Given the description of an element on the screen output the (x, y) to click on. 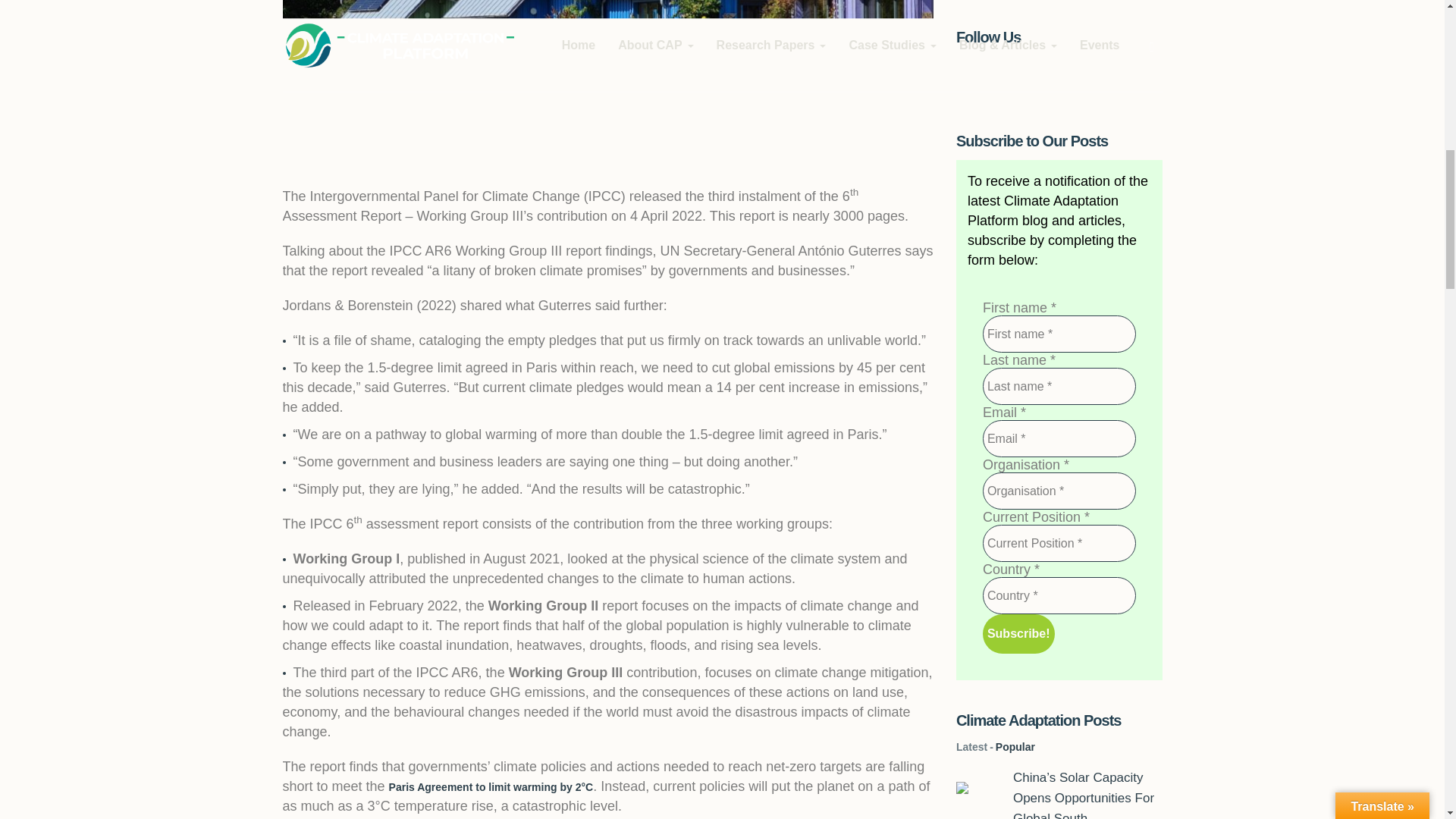
Subscribe! (1018, 633)
climate adaptation mitigation IPCC AR6 Working Group III (607, 76)
Email (1058, 438)
First name (1058, 333)
Last name (1058, 385)
